Given the description of an element on the screen output the (x, y) to click on. 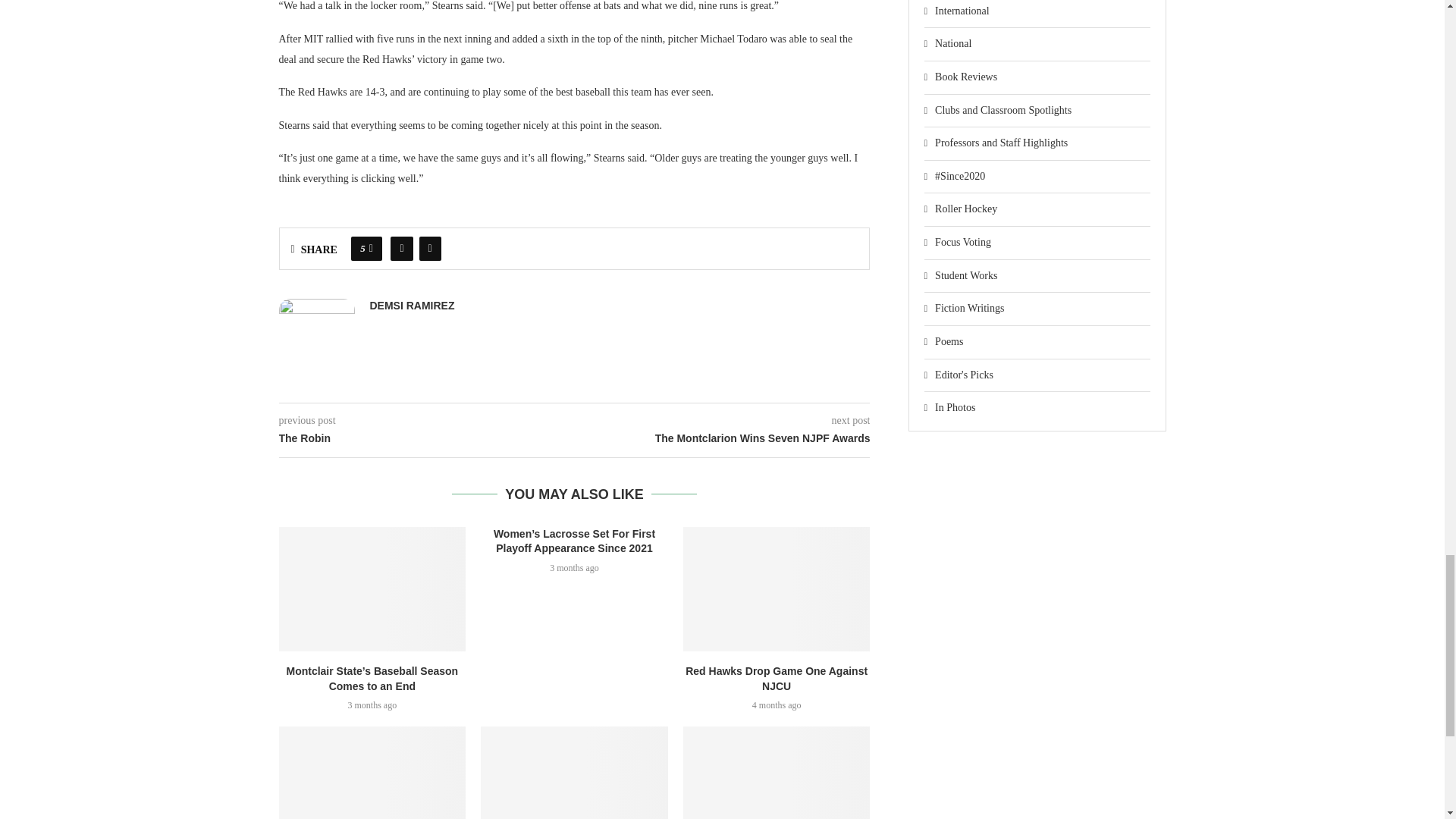
Sam Angelo: Unfinished Business (372, 772)
Montclair State Splits the Double-Header Against Stockton (776, 772)
Red Hawks Drop Game One Against NJCU (776, 588)
Author Demsi Ramirez (411, 305)
